Given the description of an element on the screen output the (x, y) to click on. 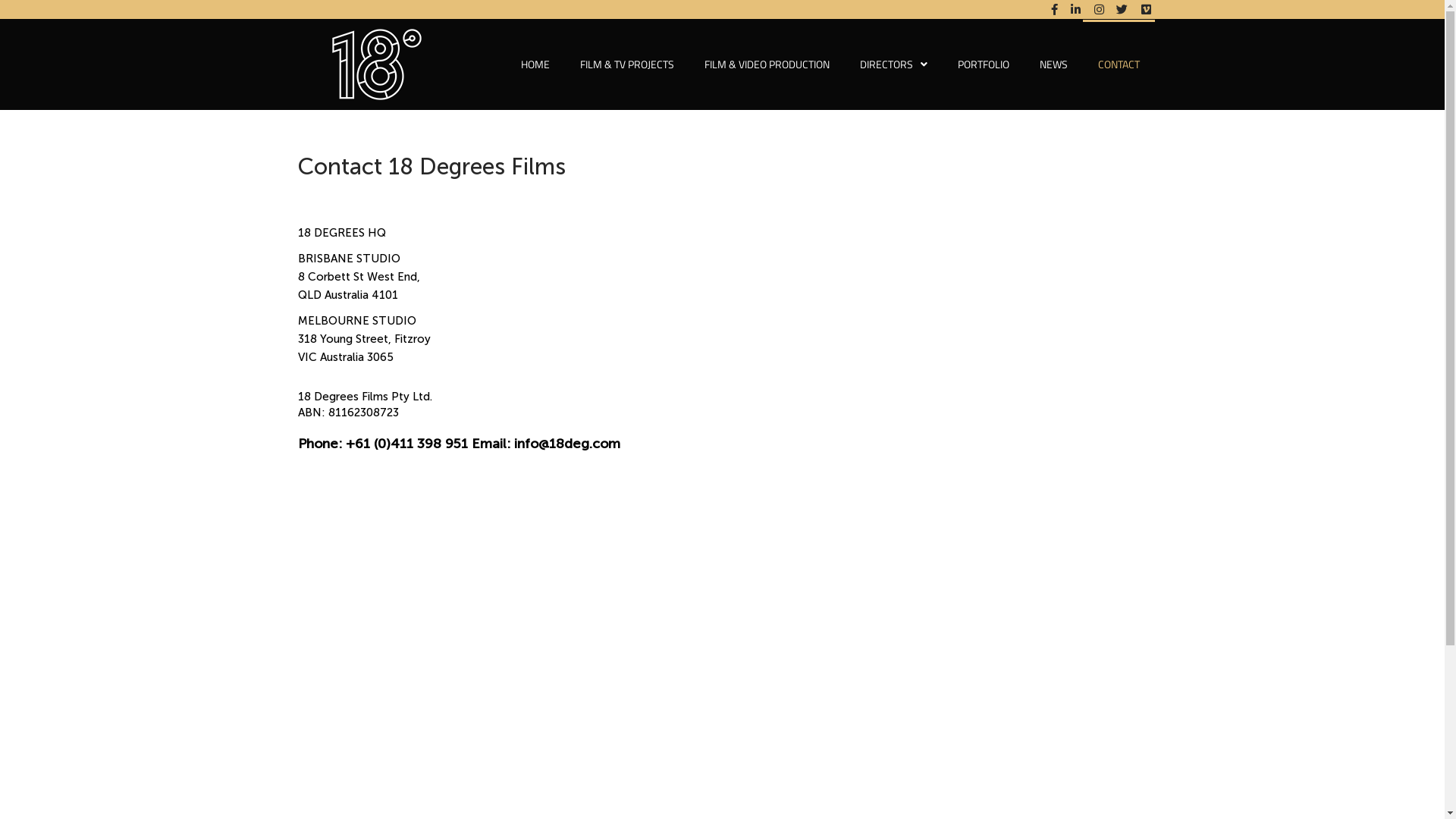
Phone: +61 (0)411 398 951 Email: info@18deg.com Element type: text (458, 443)
FILM & VIDEO PRODUCTION Element type: text (766, 64)
HOME Element type: text (534, 64)
NEWS Element type: text (1052, 64)
CONTACT Element type: text (1118, 64)
PORTFOLIO Element type: text (982, 64)
FILM & TV PROJECTS Element type: text (626, 64)
DIRECTORS Element type: text (893, 64)
